Given the description of an element on the screen output the (x, y) to click on. 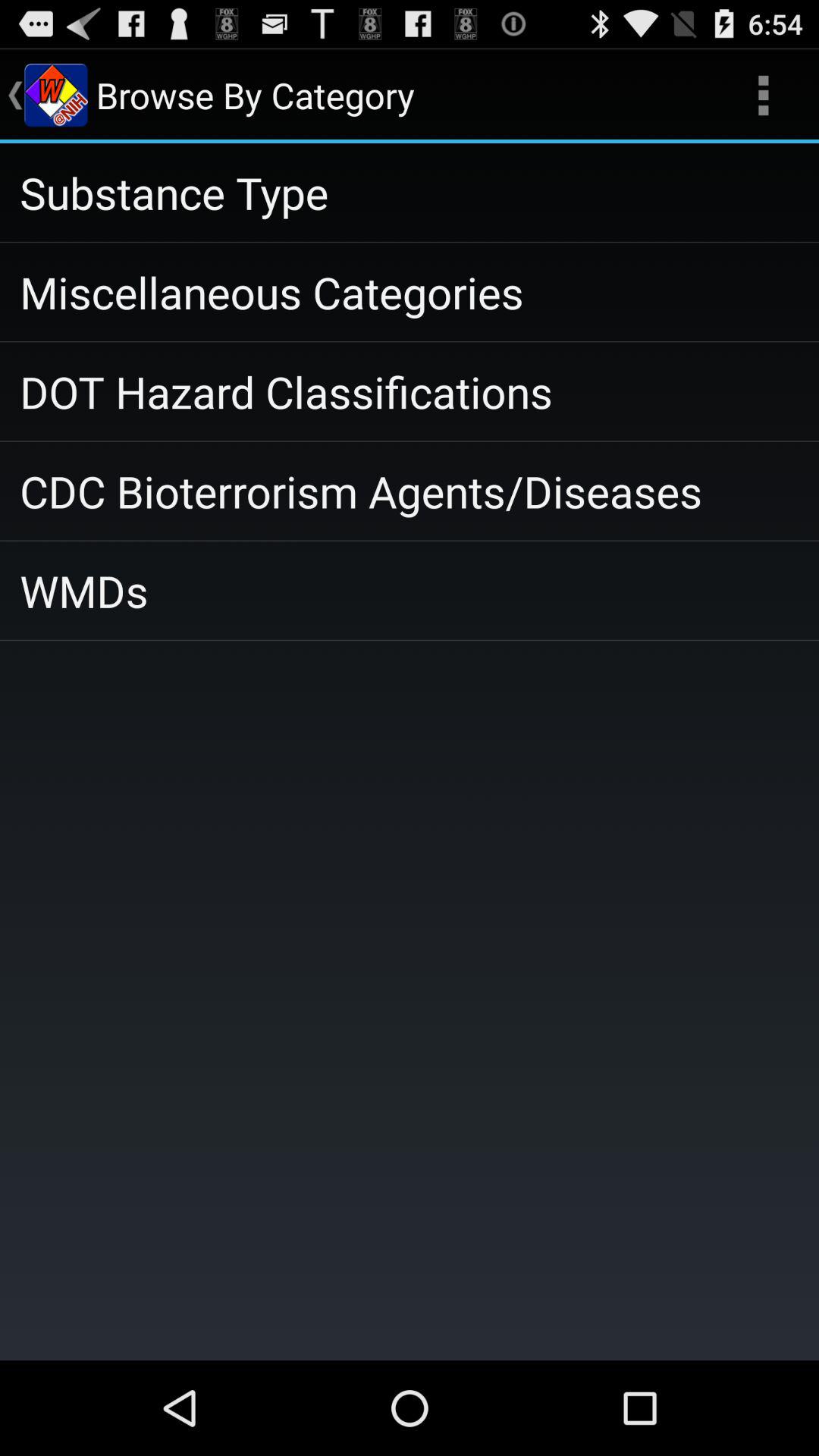
turn off the icon below the substance type icon (409, 291)
